Given the description of an element on the screen output the (x, y) to click on. 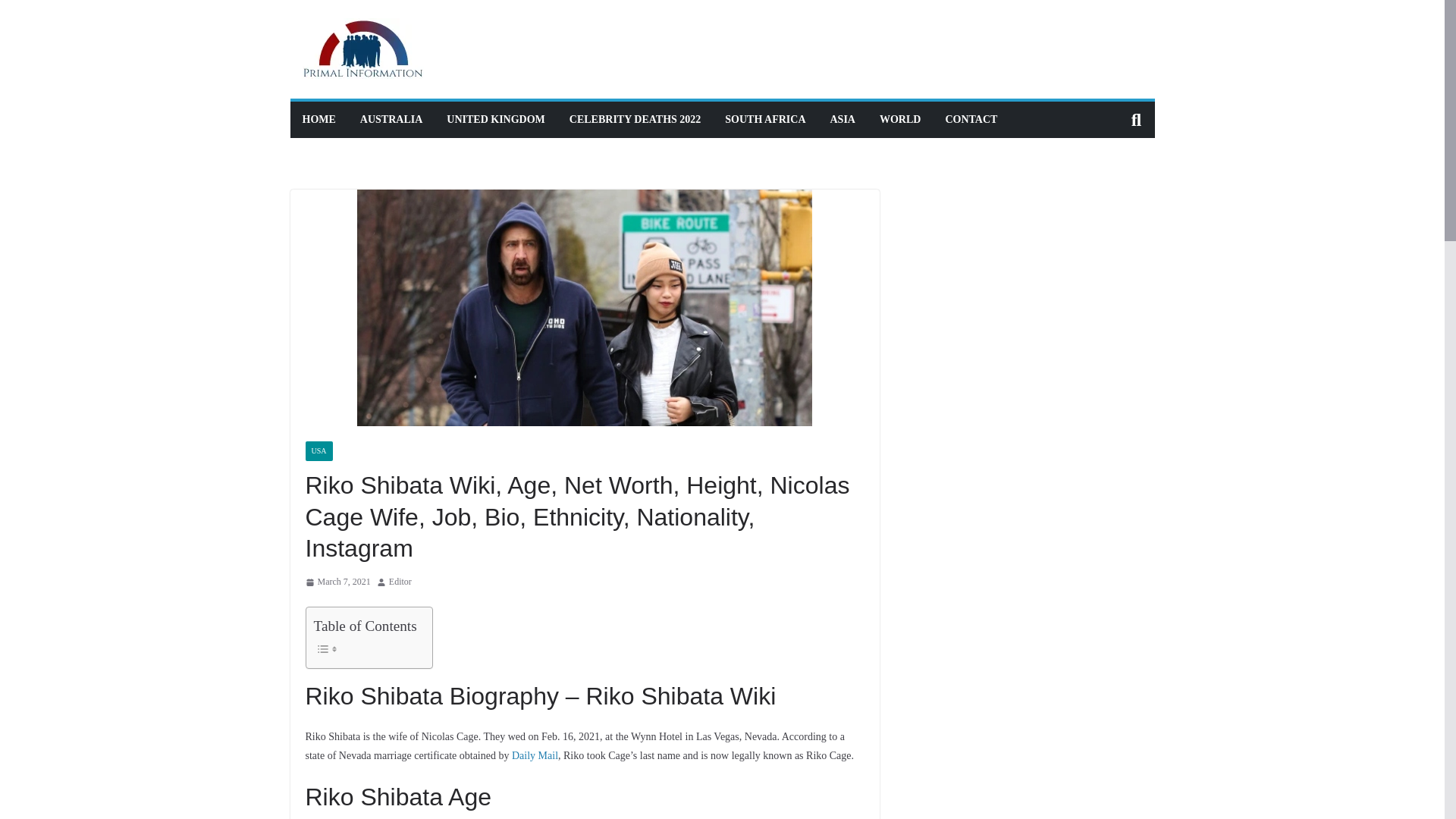
USA (317, 451)
12:13 pm (336, 582)
CONTACT (970, 119)
HOME (317, 119)
WORLD (899, 119)
Daily Mail (534, 755)
ASIA (841, 119)
SOUTH AFRICA (765, 119)
UNITED KINGDOM (495, 119)
AUSTRALIA (390, 119)
Editor (400, 582)
CELEBRITY DEATHS 2022 (634, 119)
Editor (400, 582)
March 7, 2021 (336, 582)
